Given the description of an element on the screen output the (x, y) to click on. 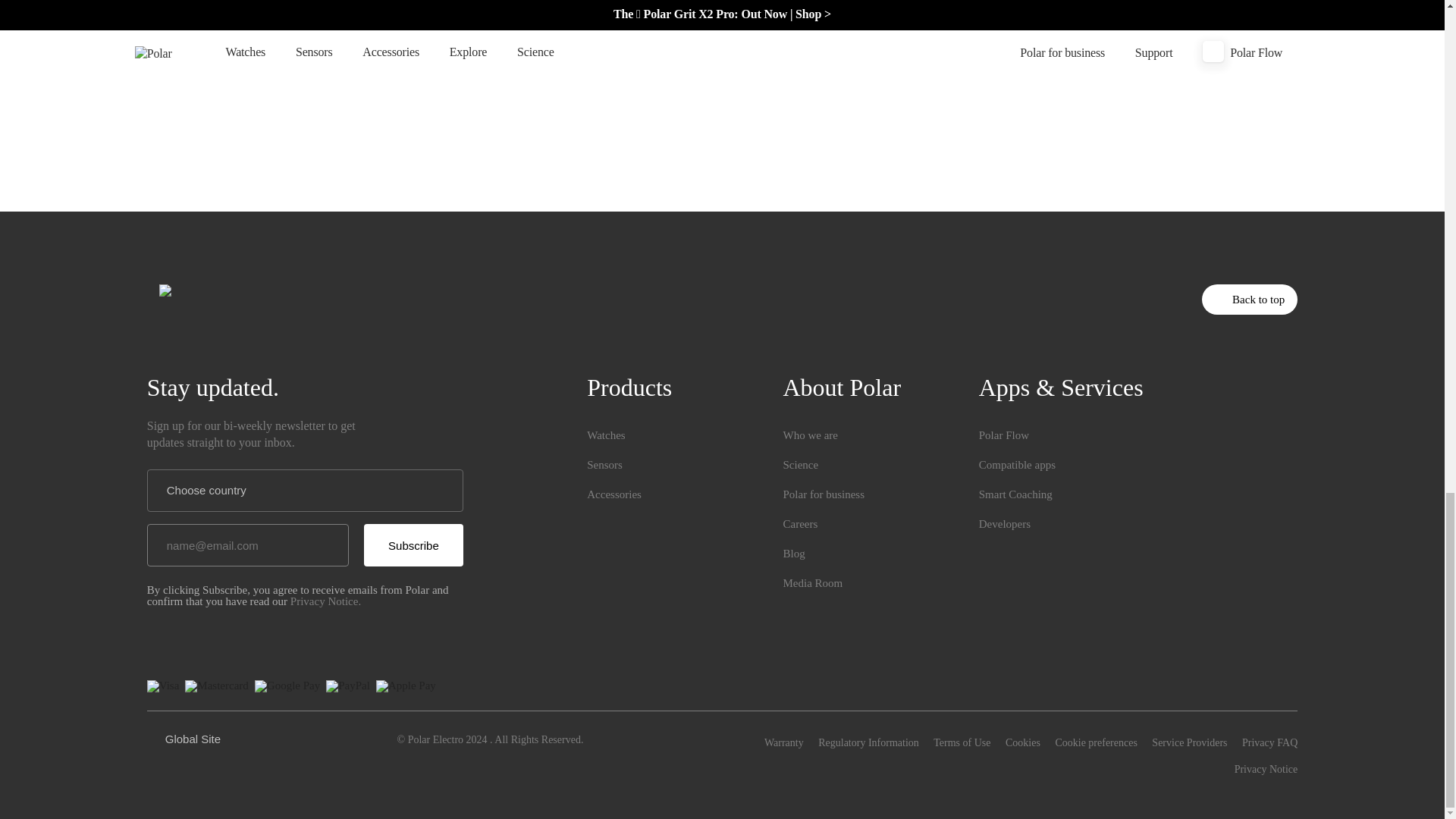
Subscribe (413, 545)
